Given the description of an element on the screen output the (x, y) to click on. 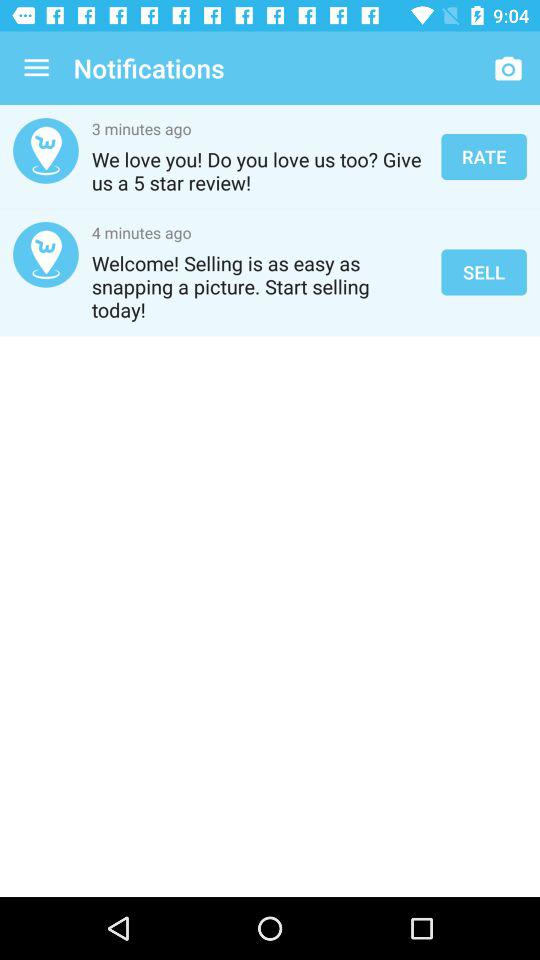
launch the item to the left of the sell item (259, 286)
